Given the description of an element on the screen output the (x, y) to click on. 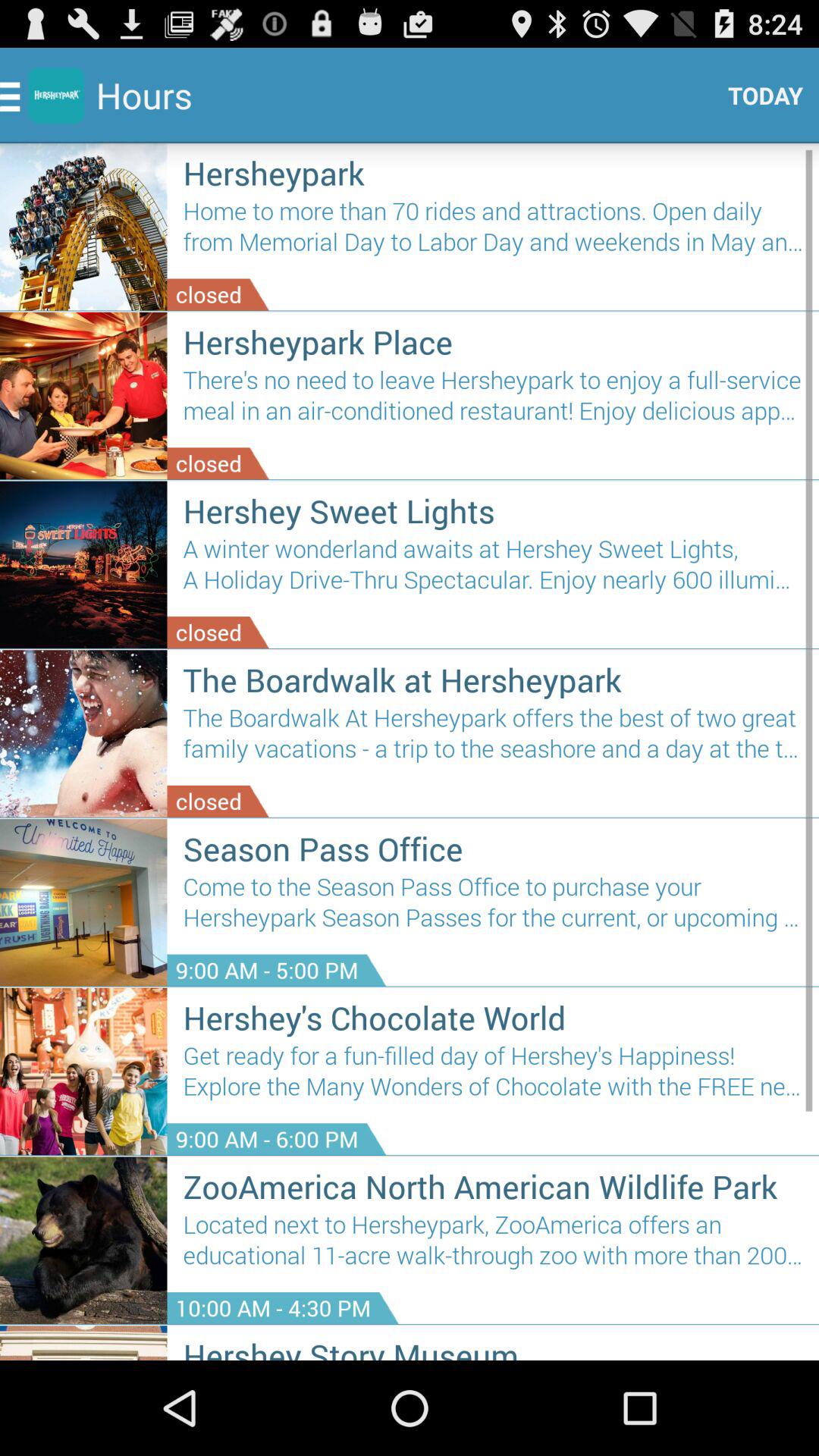
launch the icon at the top right corner (759, 95)
